Given the description of an element on the screen output the (x, y) to click on. 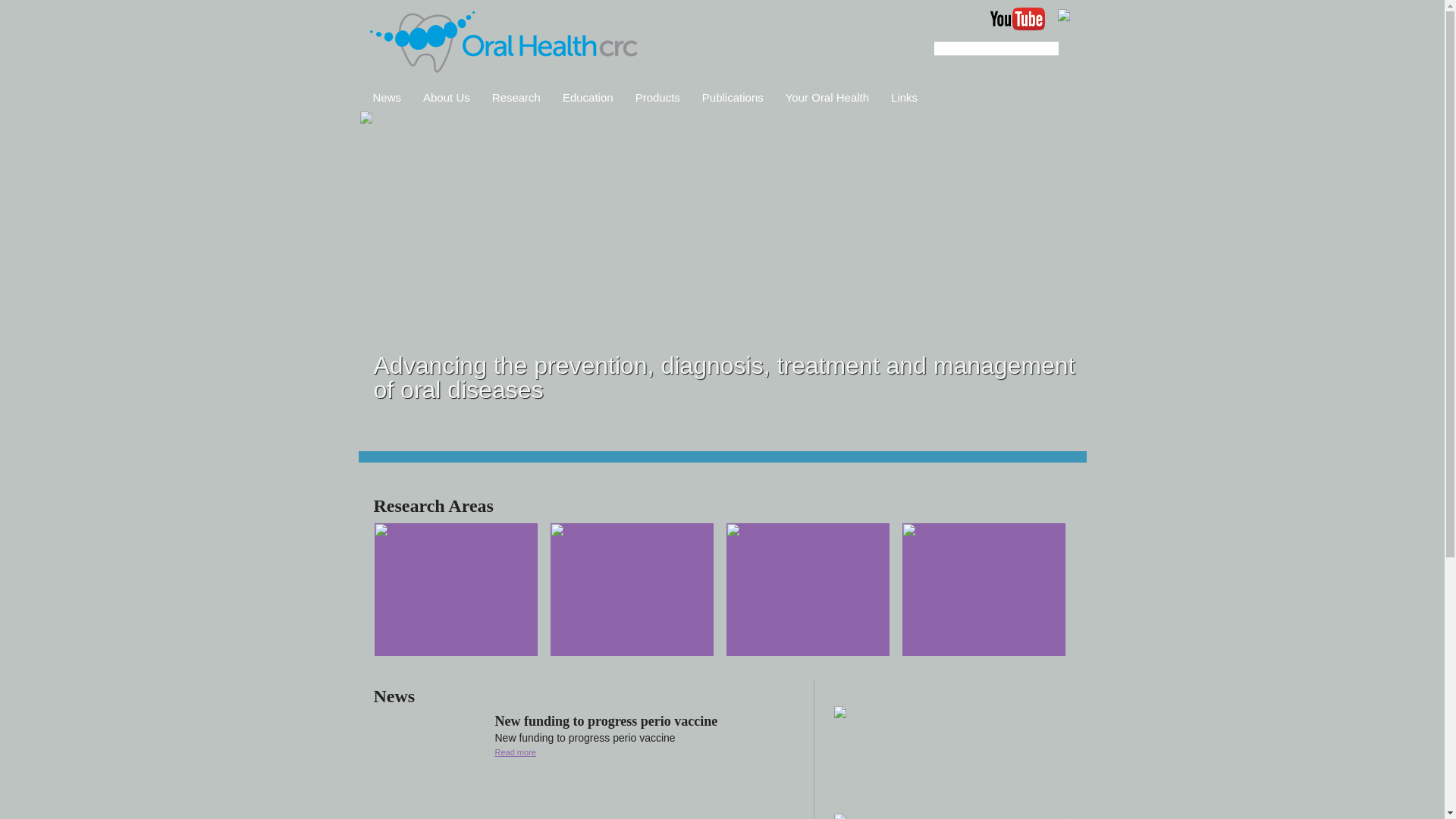
Enter the terms you wish to search for. Element type: hover (996, 48)
Links Element type: text (904, 95)
About Us Element type: text (446, 95)
Skip to main content Element type: text (54, 0)
Research Element type: text (516, 95)
Search Element type: text (1065, 48)
Publications Element type: text (732, 95)
Your Oral Health Element type: text (827, 95)
New funding to progress perio vaccine Element type: text (605, 720)
Products Element type: text (657, 95)
Read more
about New funding to progress perio vaccine Element type: text (514, 751)
News Element type: text (387, 95)
Education Element type: text (588, 95)
Home Element type: hover (503, 43)
